Given the description of an element on the screen output the (x, y) to click on. 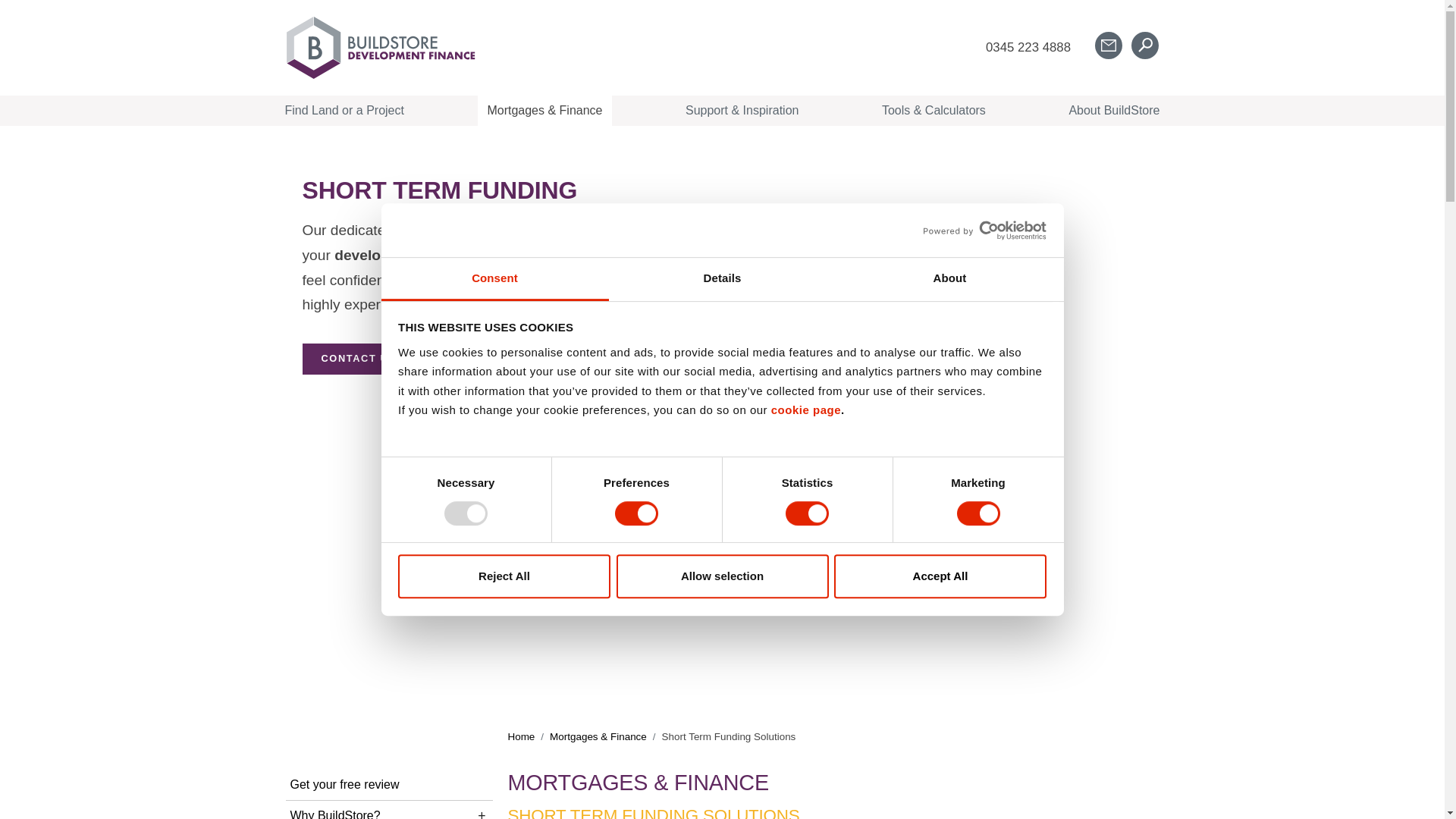
Details (721, 279)
About (948, 279)
Accept All (940, 576)
Consent (494, 279)
Allow selection (721, 576)
cookie page (806, 410)
Reject All (503, 576)
